Given the description of an element on the screen output the (x, y) to click on. 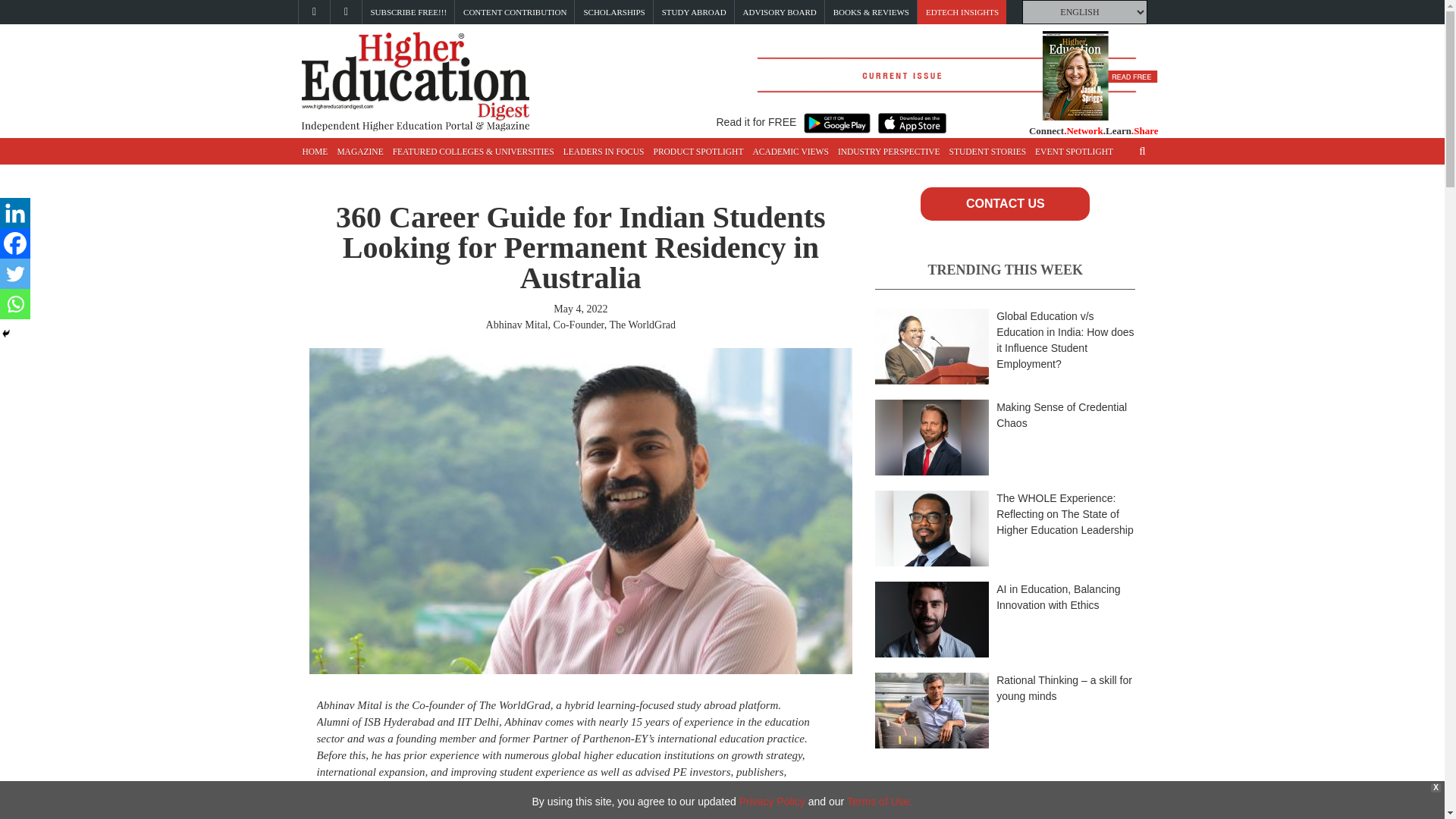
EDTECH INSIGHTS (962, 12)
SCHOLARSHIPS (614, 12)
CONTACT US (1004, 203)
AI in Education, Balancing Innovation with Ethics (1057, 596)
LEADERS IN FOCUS (604, 151)
STUDENT STORIES (987, 151)
Twitter (15, 273)
Linkedin (15, 213)
HOME (314, 151)
INDUSTRY PERSPECTIVE (888, 151)
Making Sense of Credential Chaos (1060, 415)
Facebook (15, 243)
SUBSCRIBE FREE!!! (407, 12)
CONTENT CONTRIBUTION (514, 12)
